Given the description of an element on the screen output the (x, y) to click on. 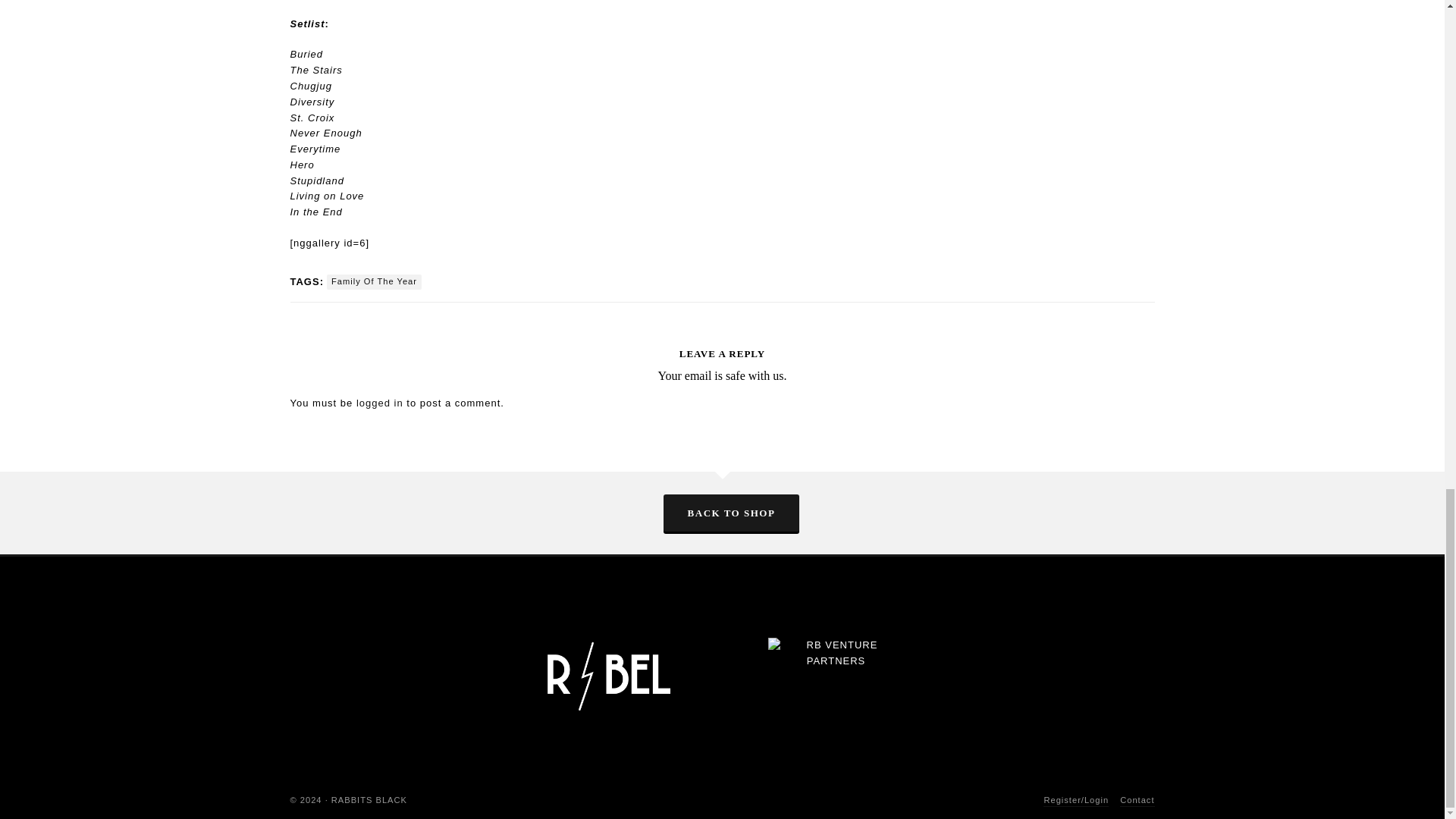
BACK TO SHOP (731, 512)
Family Of The Year (374, 281)
Contact (1136, 800)
logged in (379, 402)
